Given the description of an element on the screen output the (x, y) to click on. 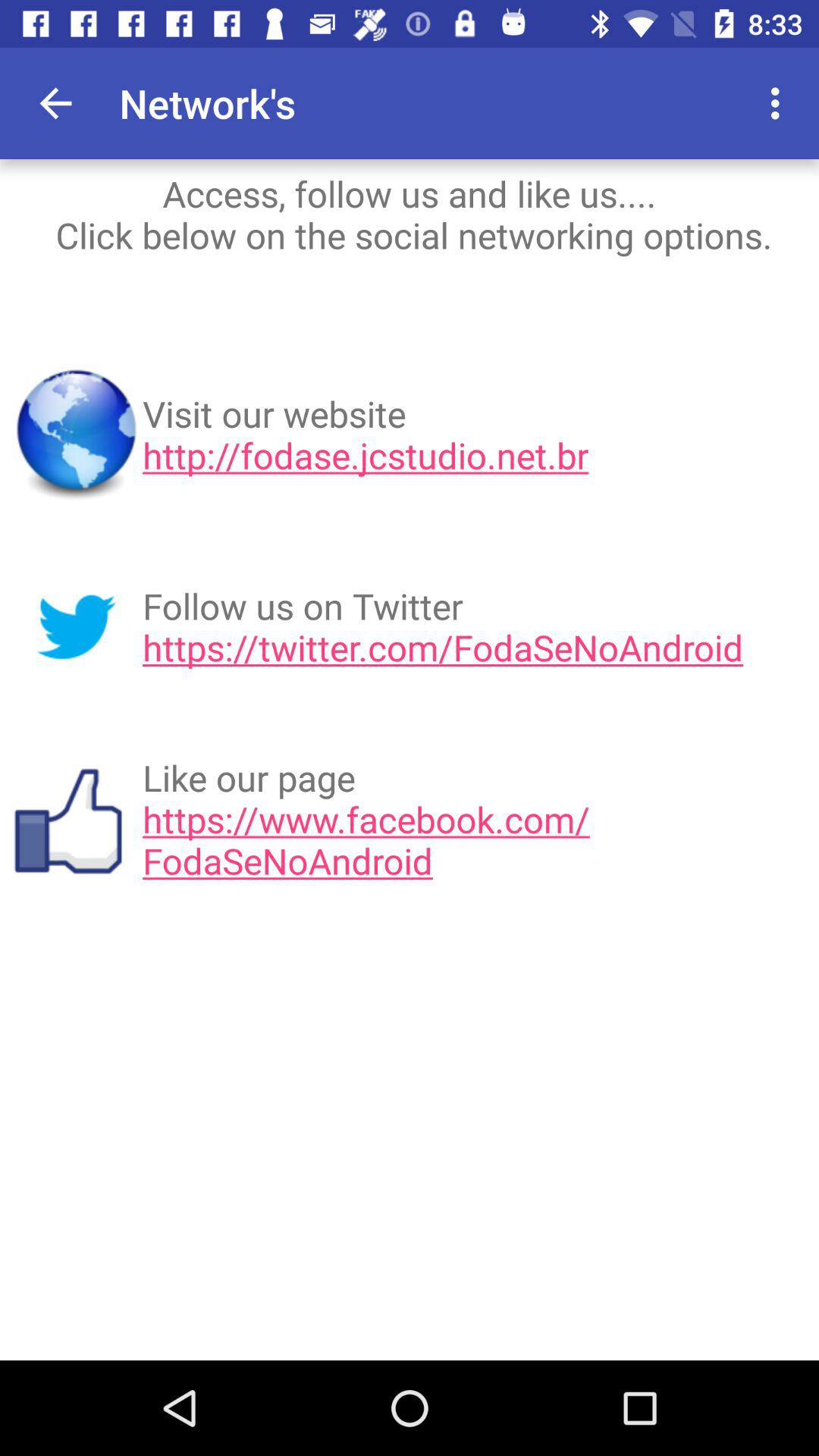
choose like our page (475, 819)
